Given the description of an element on the screen output the (x, y) to click on. 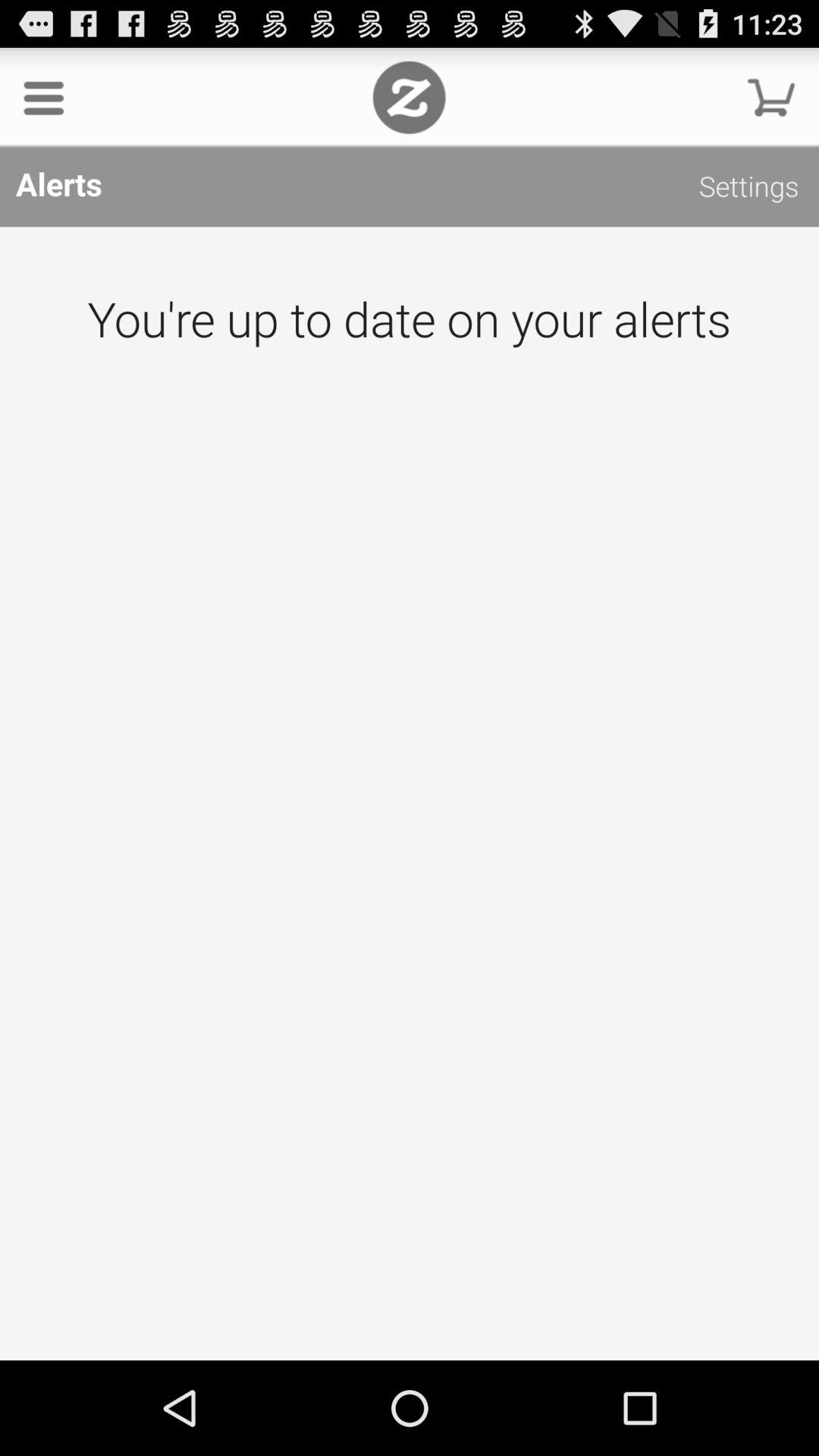
click the blinking box if you want to add something to your shopping cart to buy (771, 97)
